Given the description of an element on the screen output the (x, y) to click on. 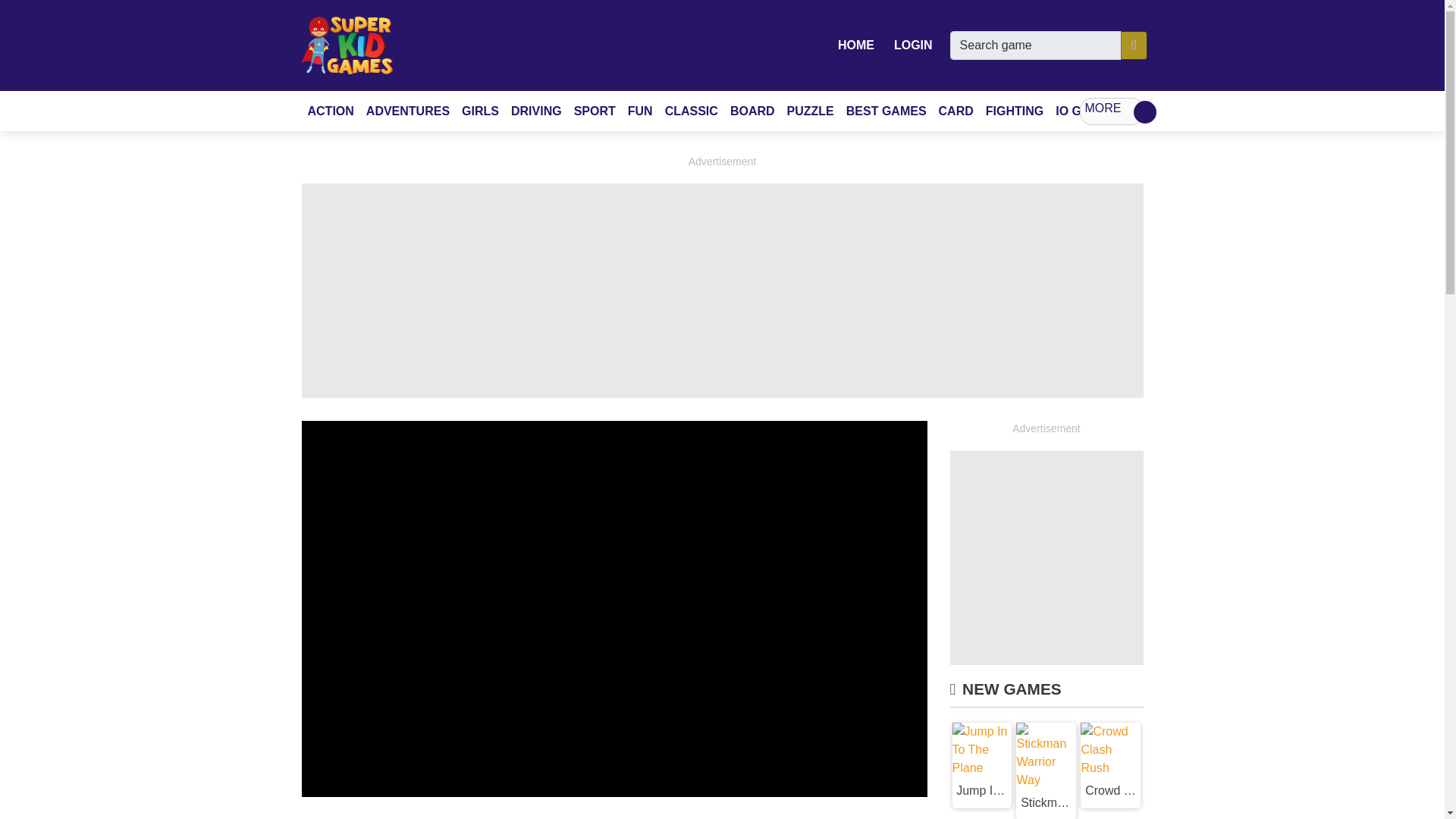
LOGIN (913, 44)
CARD (956, 111)
BOARD (751, 111)
ACTION (330, 111)
DRIVING (536, 111)
ADVENTURES (407, 111)
HOME (855, 44)
CLASSIC (691, 111)
FUN (640, 111)
FIGHTING (1014, 111)
PUZZLE (810, 111)
IO GAMES (1085, 111)
BEST GAMES (886, 111)
SPORT (594, 111)
MORE (1111, 111)
